Given the description of an element on the screen output the (x, y) to click on. 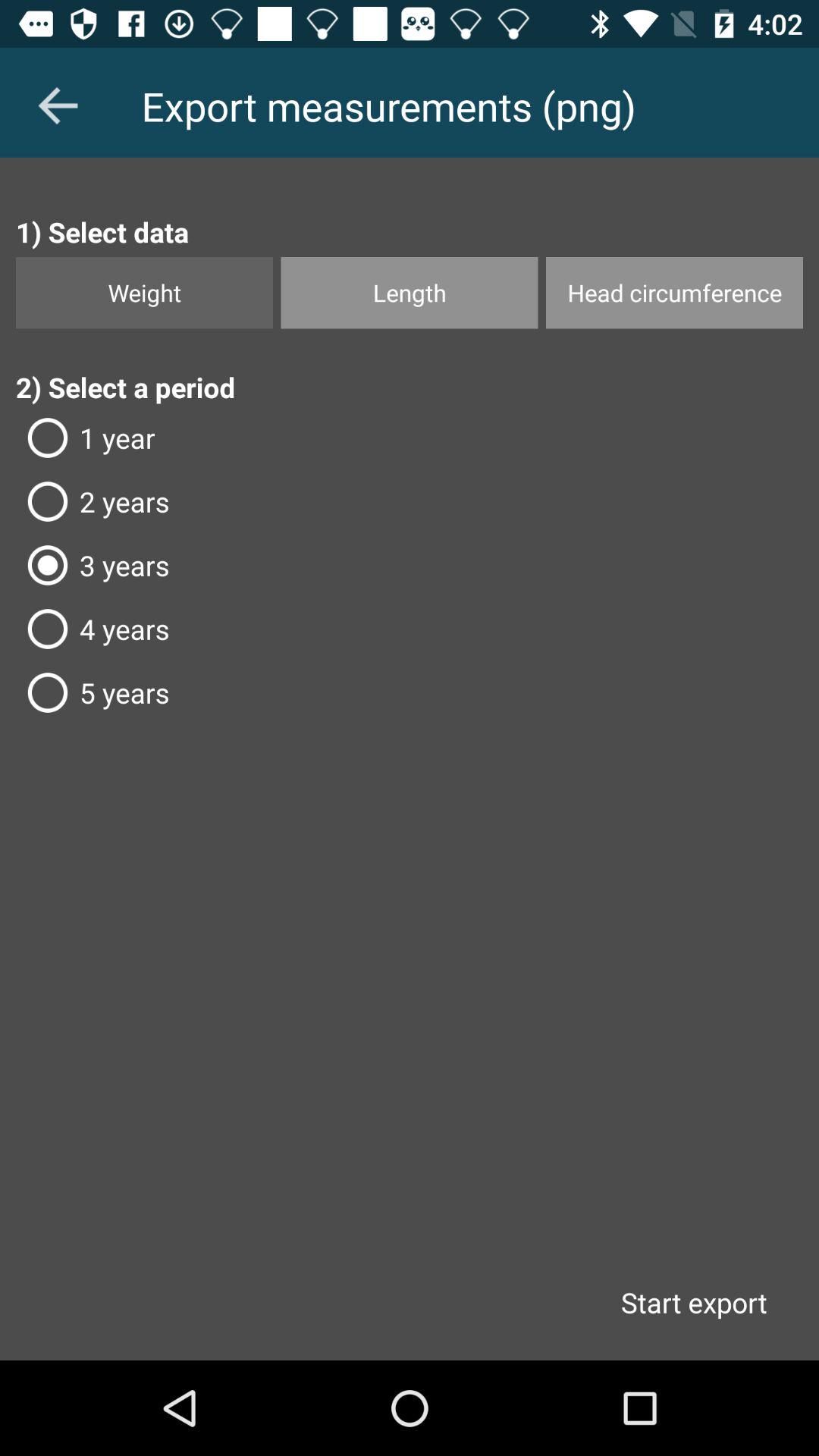
choose icon below 3 years (409, 628)
